Given the description of an element on the screen output the (x, y) to click on. 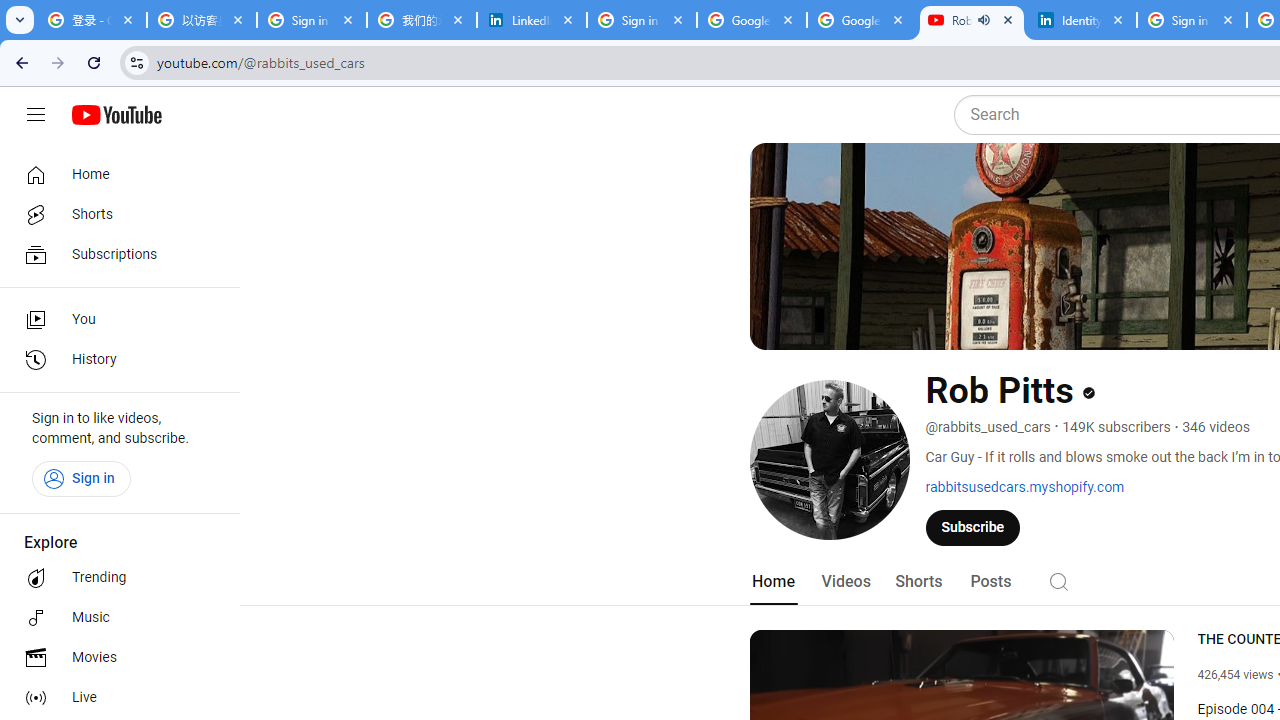
Shorts (918, 581)
Trending (113, 578)
YouTube Home (116, 115)
Home (113, 174)
Sign in - Google Accounts (642, 20)
Sign in - Google Accounts (312, 20)
Subscribe (973, 527)
rabbitsusedcars.myshopify.com (1025, 487)
Shorts (113, 214)
